Given the description of an element on the screen output the (x, y) to click on. 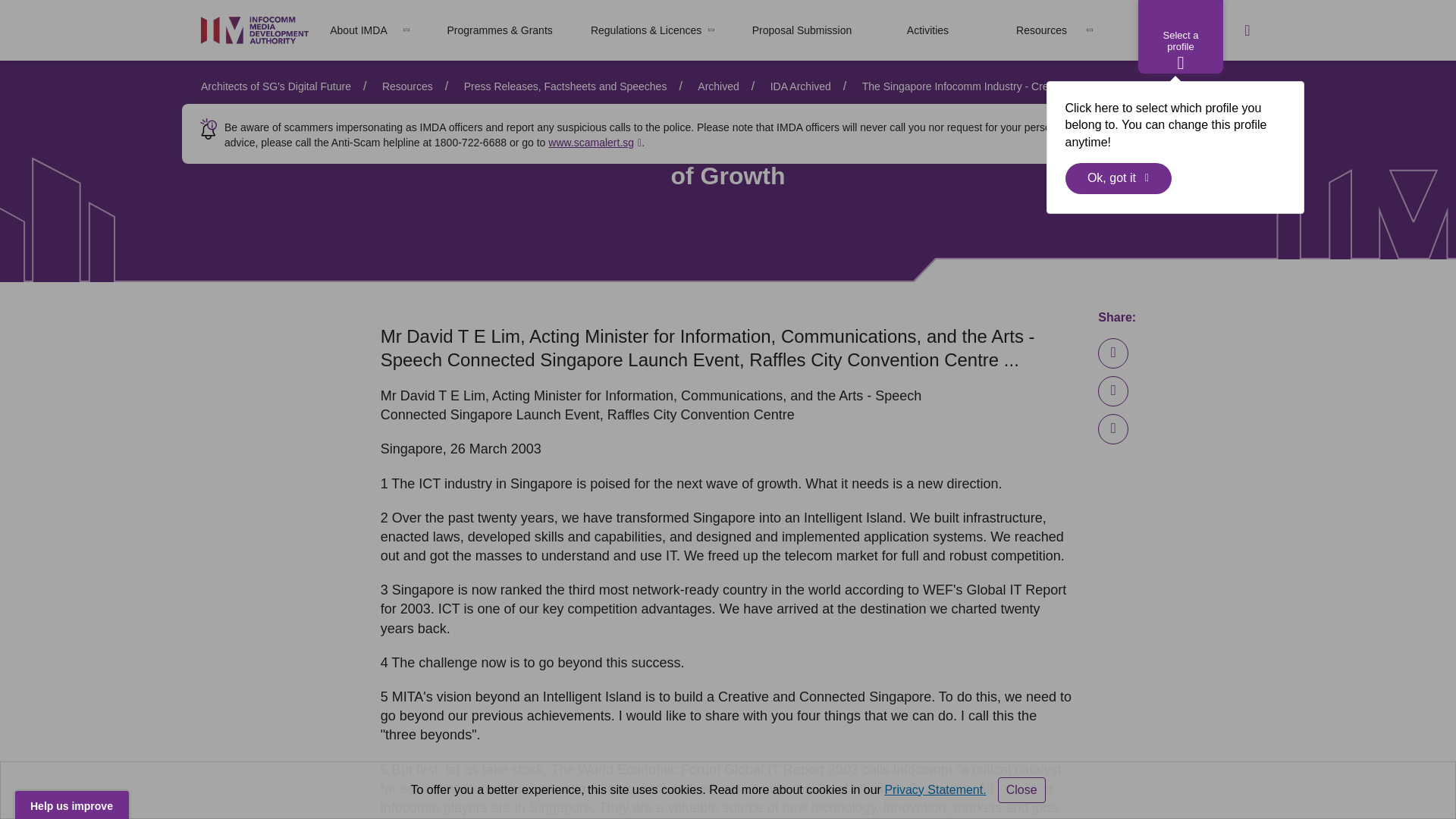
About IMDA (358, 30)
Share to LinkedIn (1112, 353)
Share to Facebook (1112, 390)
IMDA (254, 30)
Select a profile (1180, 36)
Share to Twitter (1112, 429)
